Given the description of an element on the screen output the (x, y) to click on. 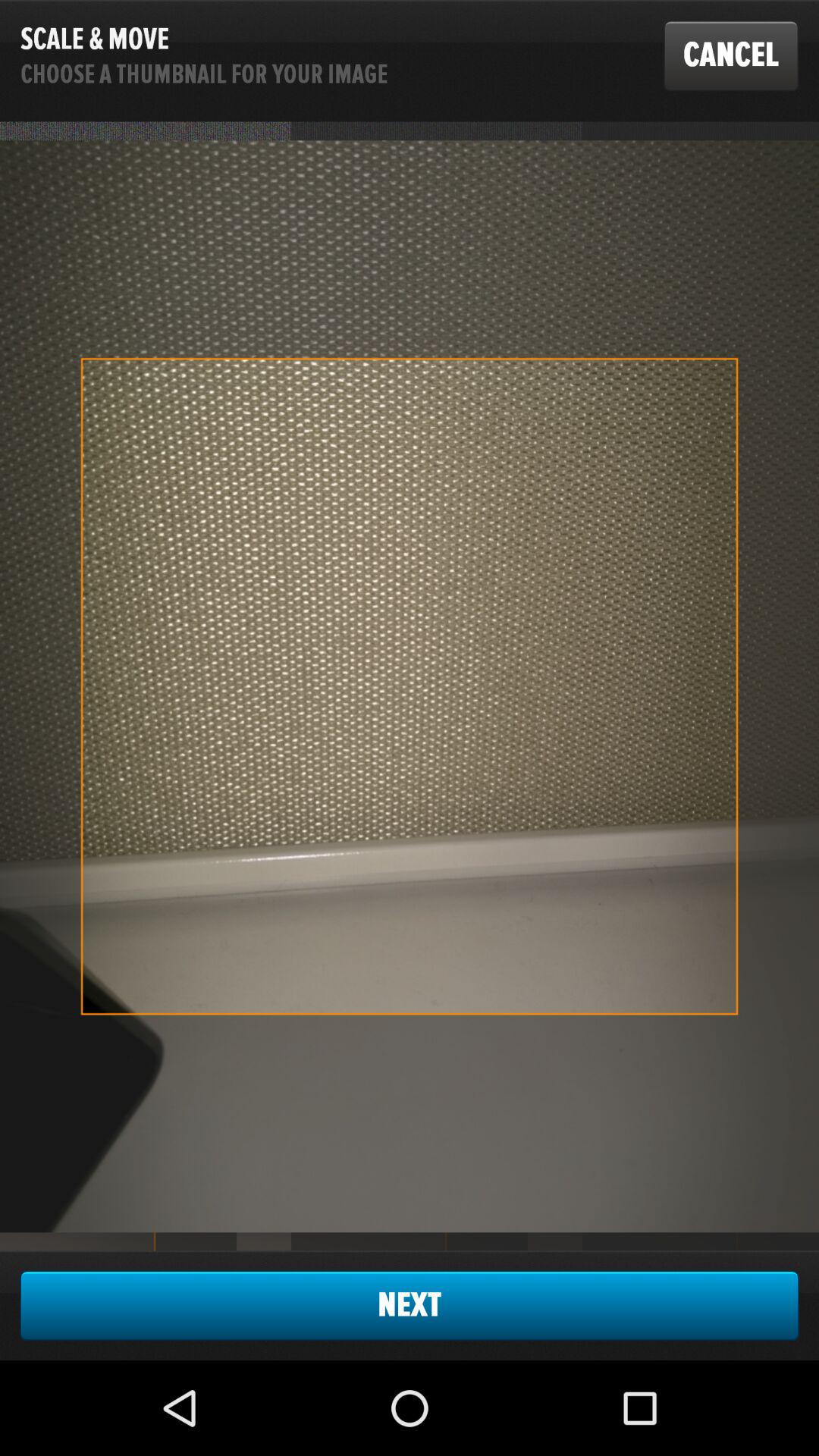
press the next item (409, 1305)
